Given the description of an element on the screen output the (x, y) to click on. 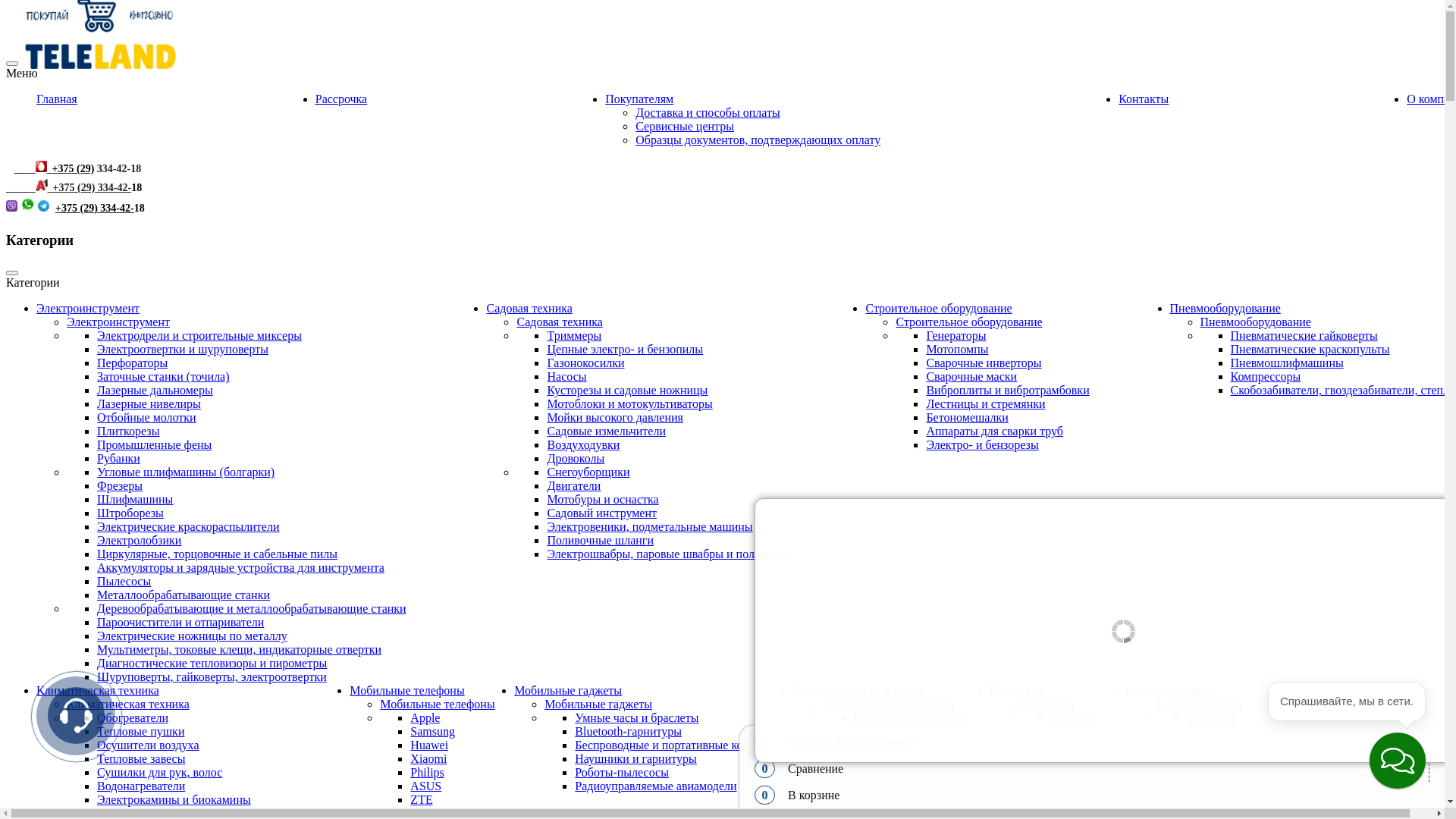
Apple Element type: text (424, 717)
Prestigio Element type: text (1071, 785)
Philips Element type: text (426, 771)
  Element type: text (33, 187)
  Element type: text (28, 168)
Oysters Element type: text (1068, 771)
  Element type: text (31, 187)
  Element type: text (28, 187)
ZTE Element type: text (421, 799)
         Element type: text (16, 187)
ASUS Element type: text (425, 785)
DEXP Element type: text (1066, 758)
+375 (29) 334-42- Element type: text (92, 187)
   Element type: text (49, 187)
Xiaomi Element type: text (428, 758)
Huawei Element type: text (1069, 744)
Samsung Element type: text (432, 730)
Samsung Element type: text (1072, 717)
  +375 (29) Element type: text (70, 168)
+375 (29) 334-42- Element type: text (94, 207)
Lenovo Element type: text (1068, 730)
      Element type: text (20, 168)
Huawei Element type: text (429, 744)
   Element type: text (32, 168)
Digma Element type: text (1066, 799)
